Given the description of an element on the screen output the (x, y) to click on. 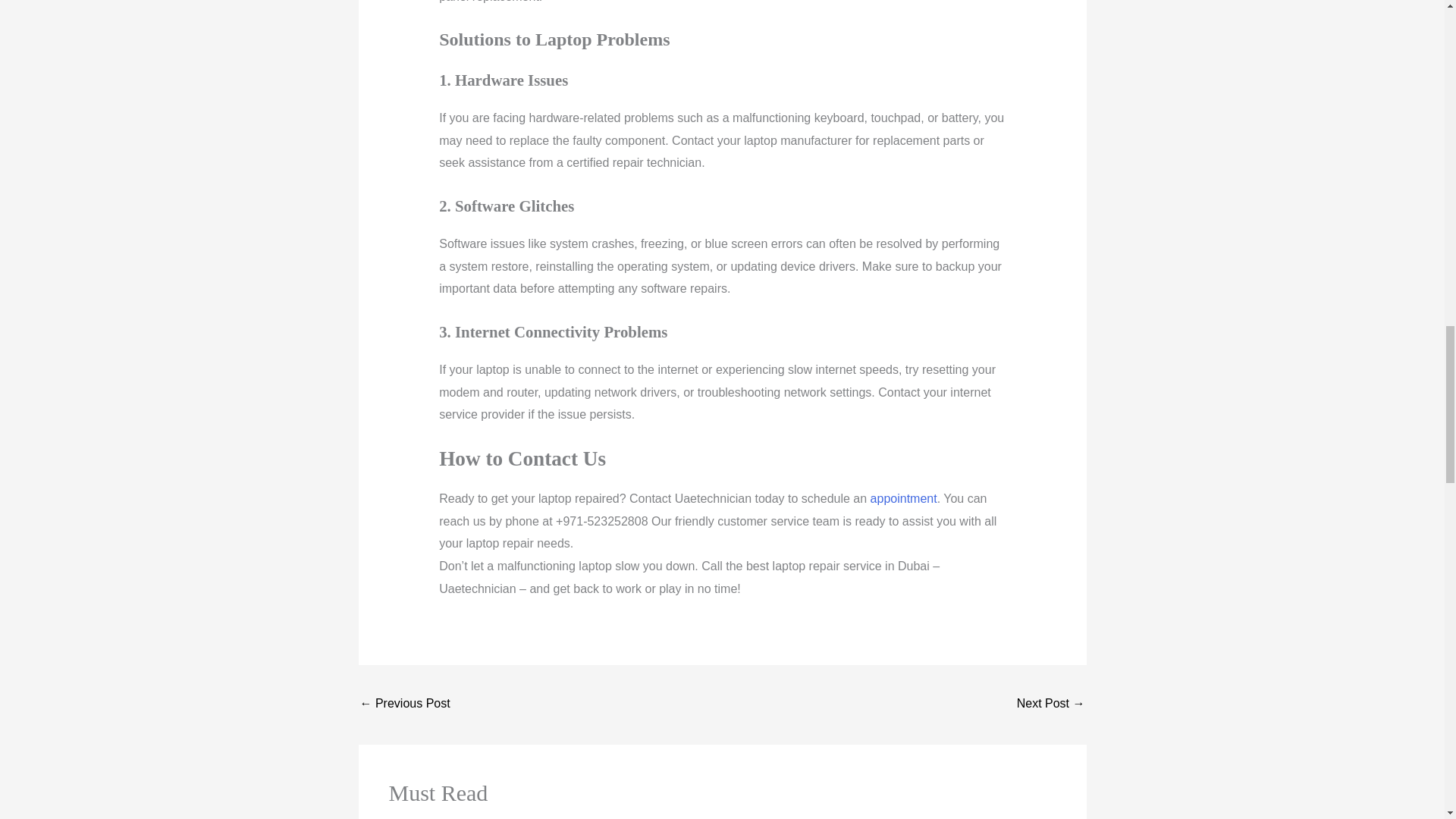
appointment (901, 498)
Oas36ty Best Task Management Software Tools for Work in 2024 (404, 705)
Fashion Brands to Turn Into Zero Waste - Why It Matters? (1050, 705)
